Given the description of an element on the screen output the (x, y) to click on. 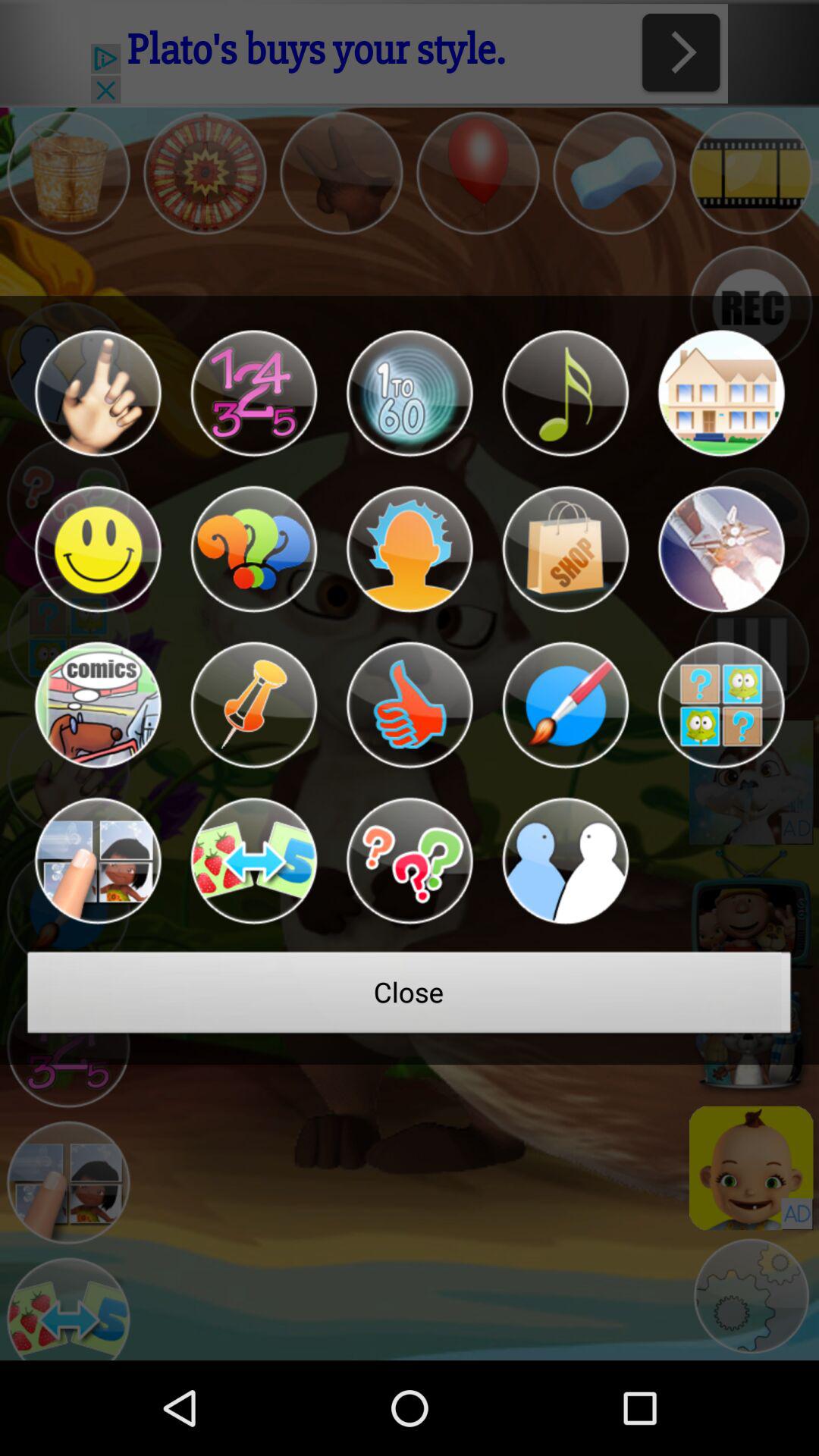
shows more for that character (721, 549)
